Given the description of an element on the screen output the (x, y) to click on. 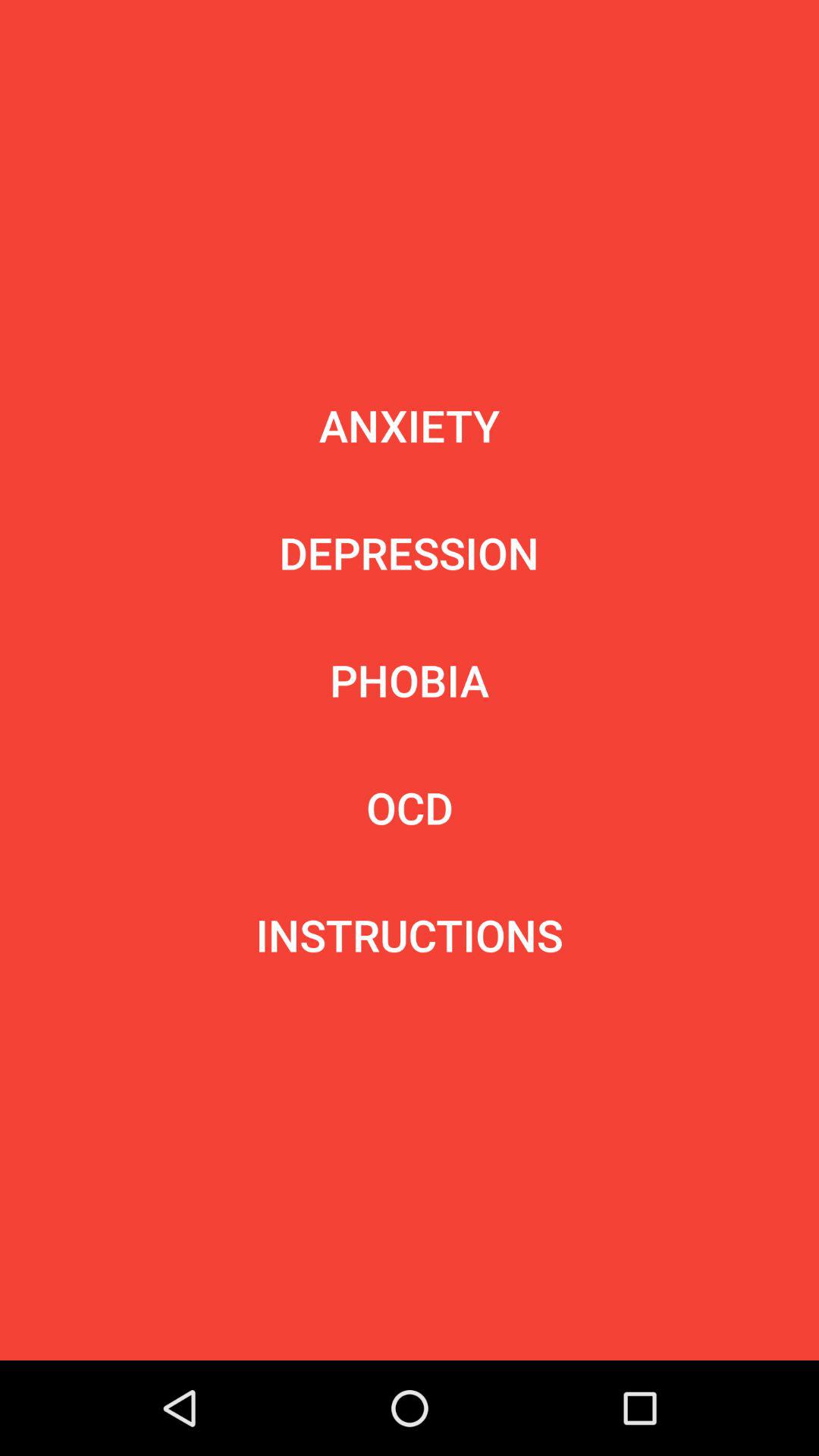
swipe until depression icon (409, 552)
